Given the description of an element on the screen output the (x, y) to click on. 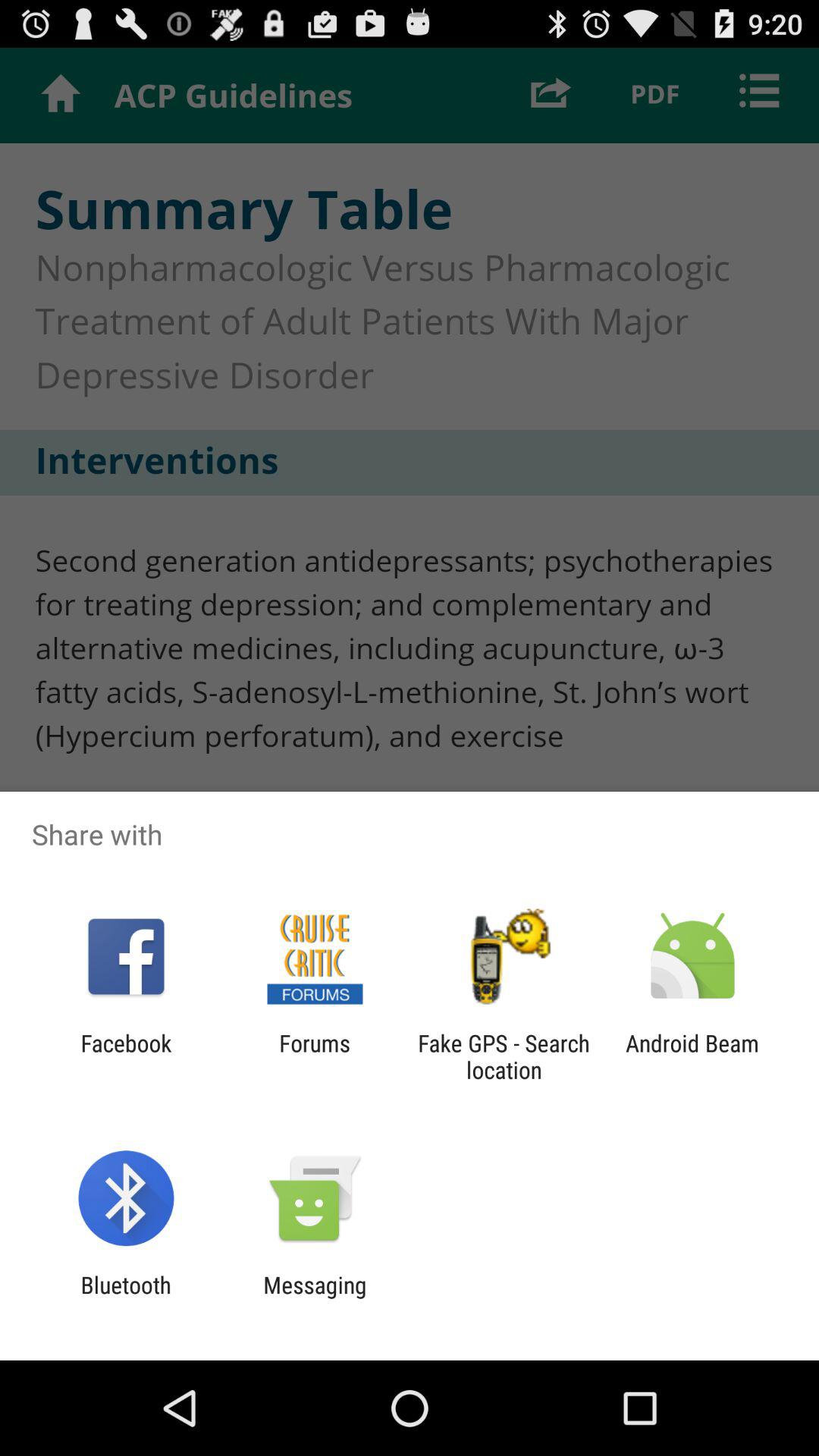
launch the item next to the bluetooth item (314, 1298)
